Given the description of an element on the screen output the (x, y) to click on. 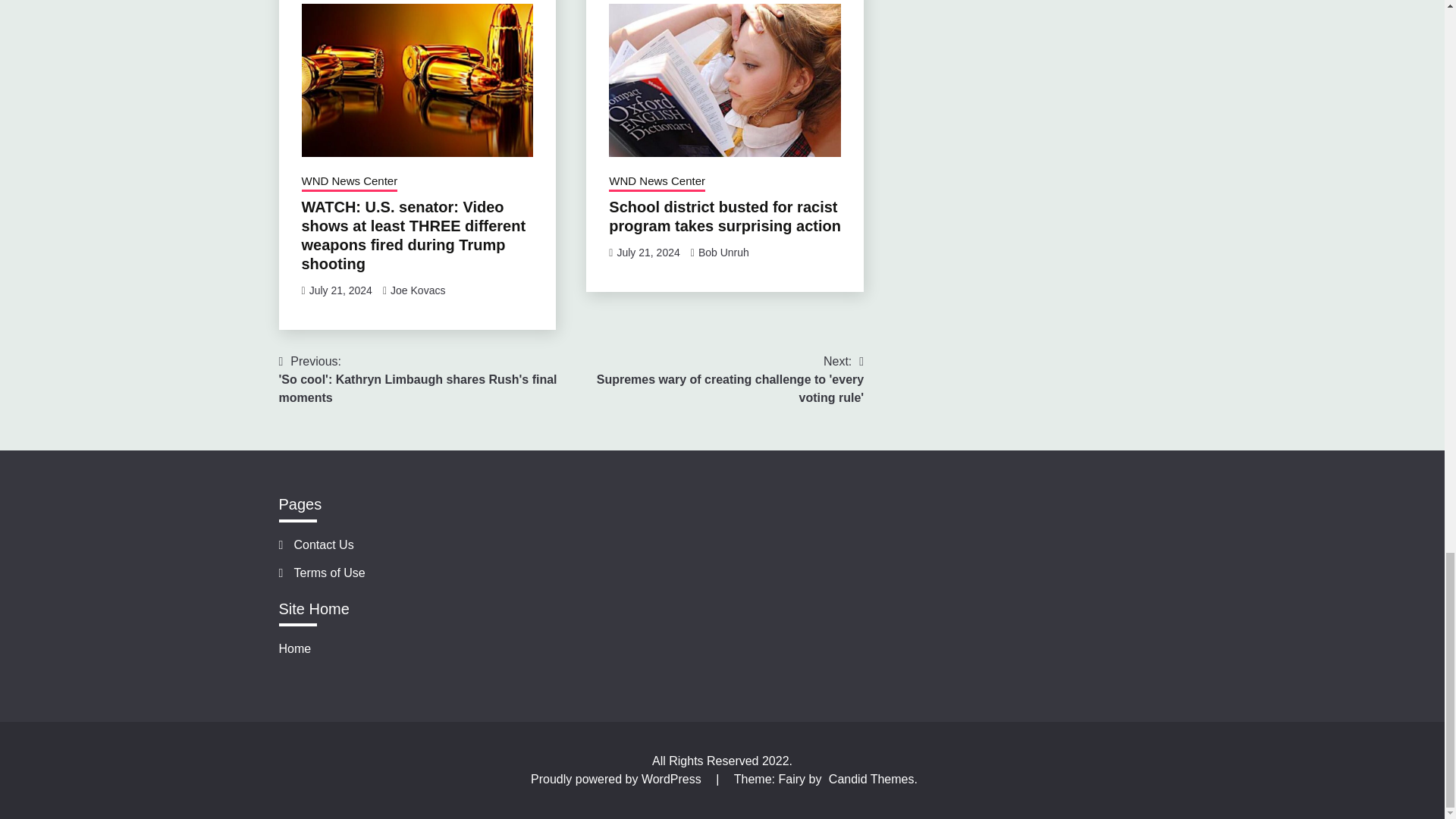
Joe Kovacs (417, 290)
WND News Center (656, 182)
July 21, 2024 (647, 252)
Bob Unruh (723, 252)
WND News Center (349, 182)
July 21, 2024 (340, 290)
